Given the description of an element on the screen output the (x, y) to click on. 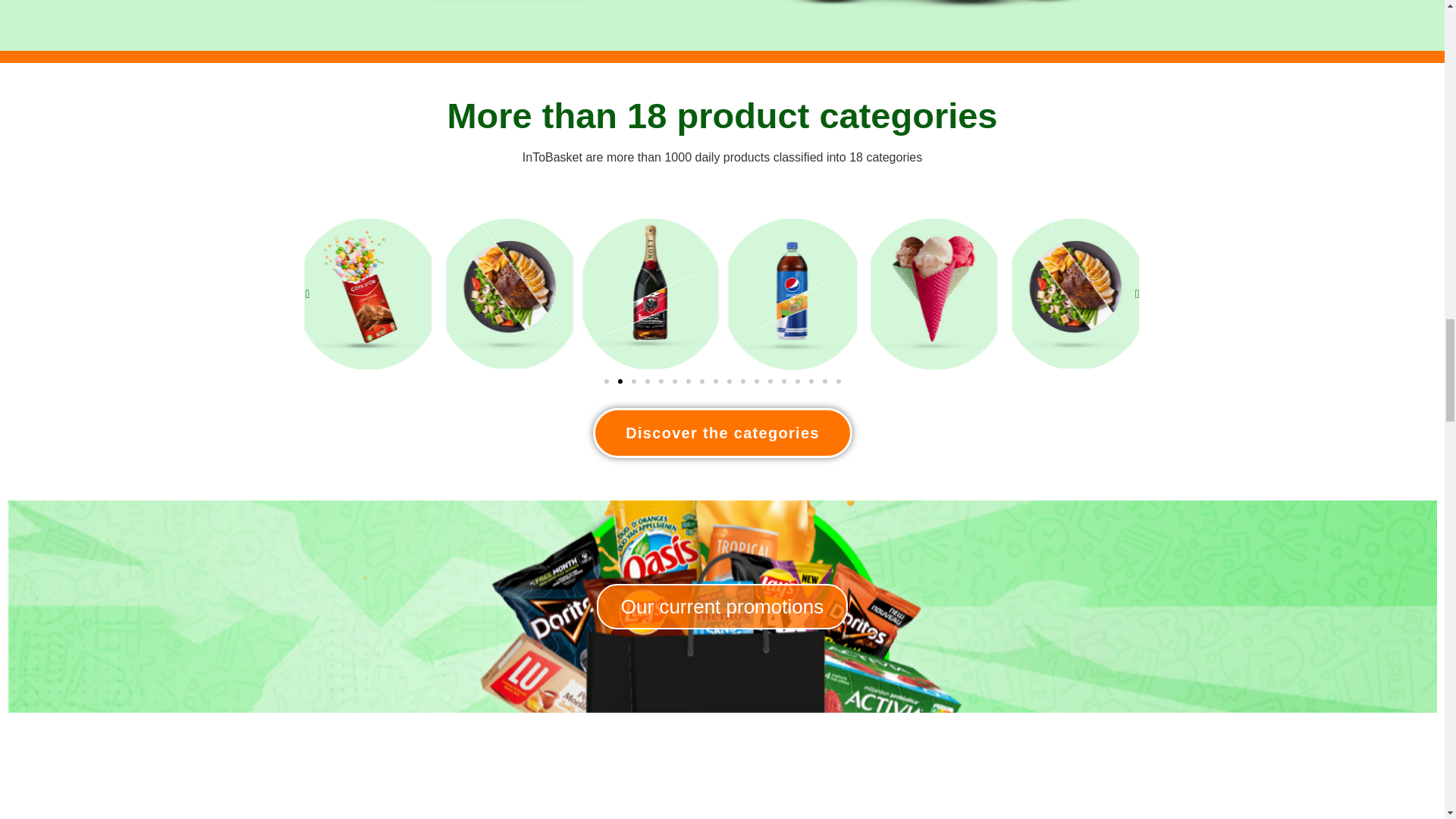
Discover the categories (721, 432)
Our current promotions (721, 606)
